Given the description of an element on the screen output the (x, y) to click on. 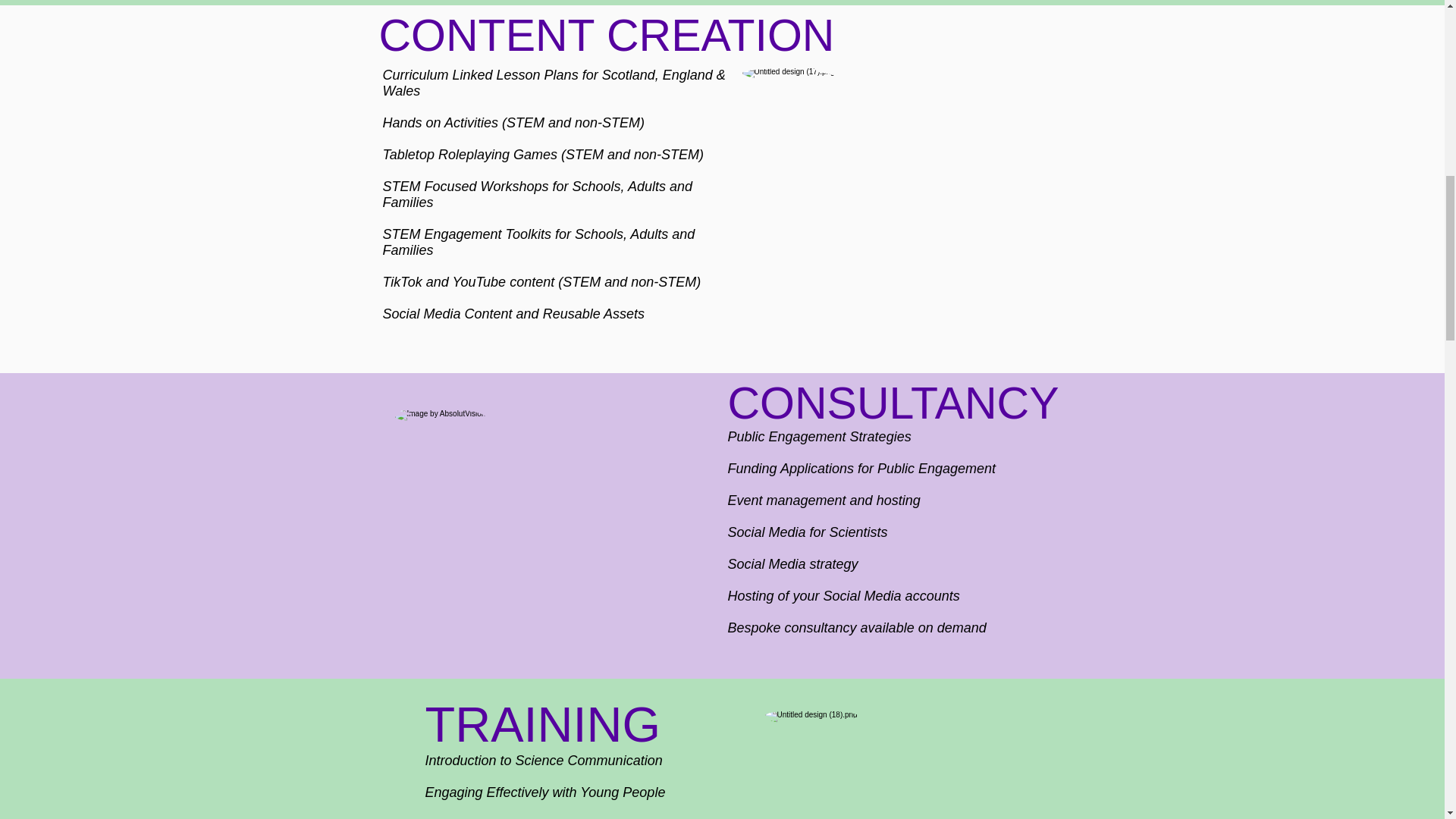
yannis-h-uaPaEM7MiQQ-unsplash.jpg (909, 162)
